Given the description of an element on the screen output the (x, y) to click on. 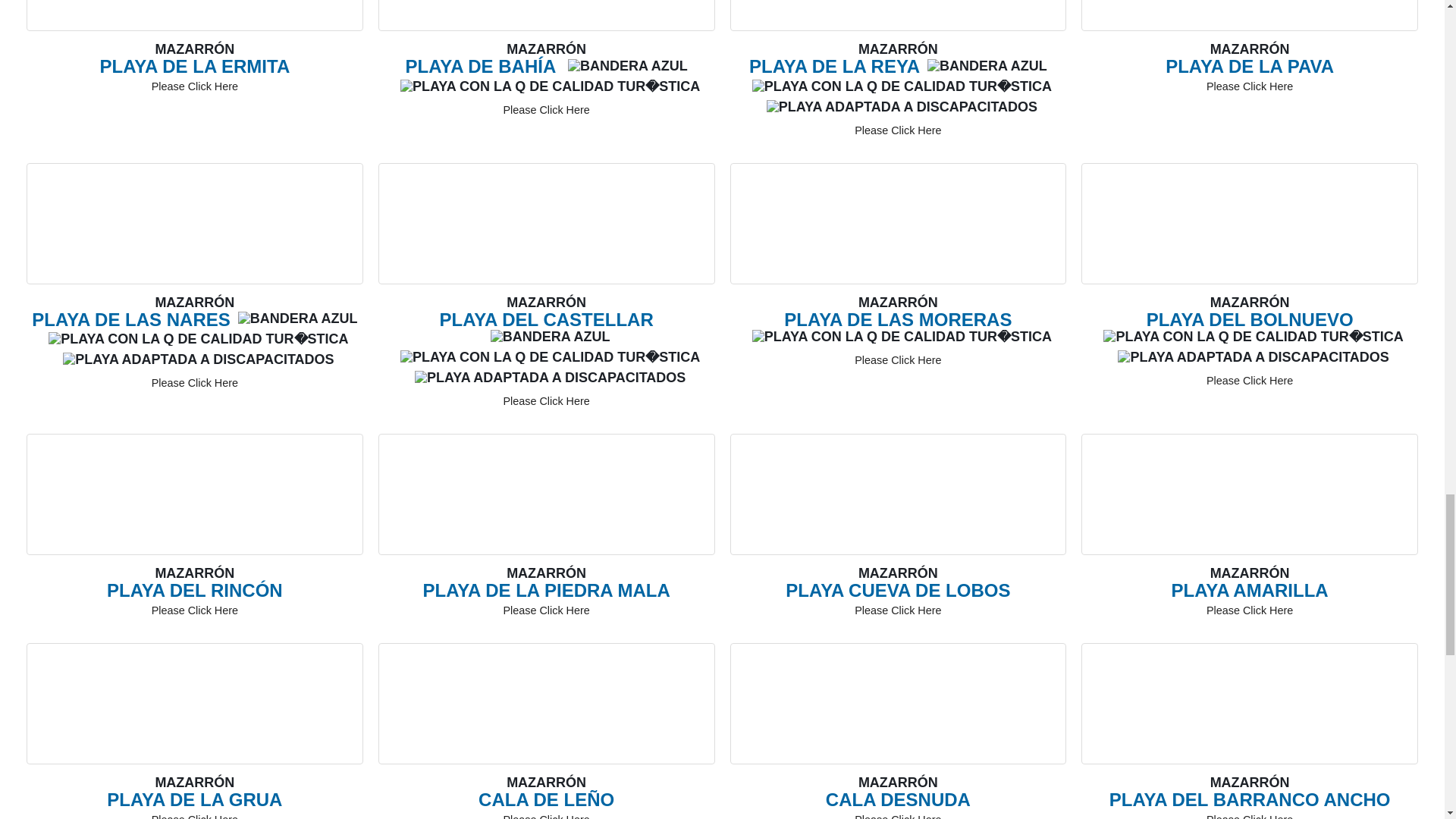
Bandera Azul (627, 65)
Bandera Azul (298, 318)
Playa adaptada a discapacitados (901, 106)
Playa adaptada a discapacitados (197, 359)
Bandera Azul (986, 65)
